Given the description of an element on the screen output the (x, y) to click on. 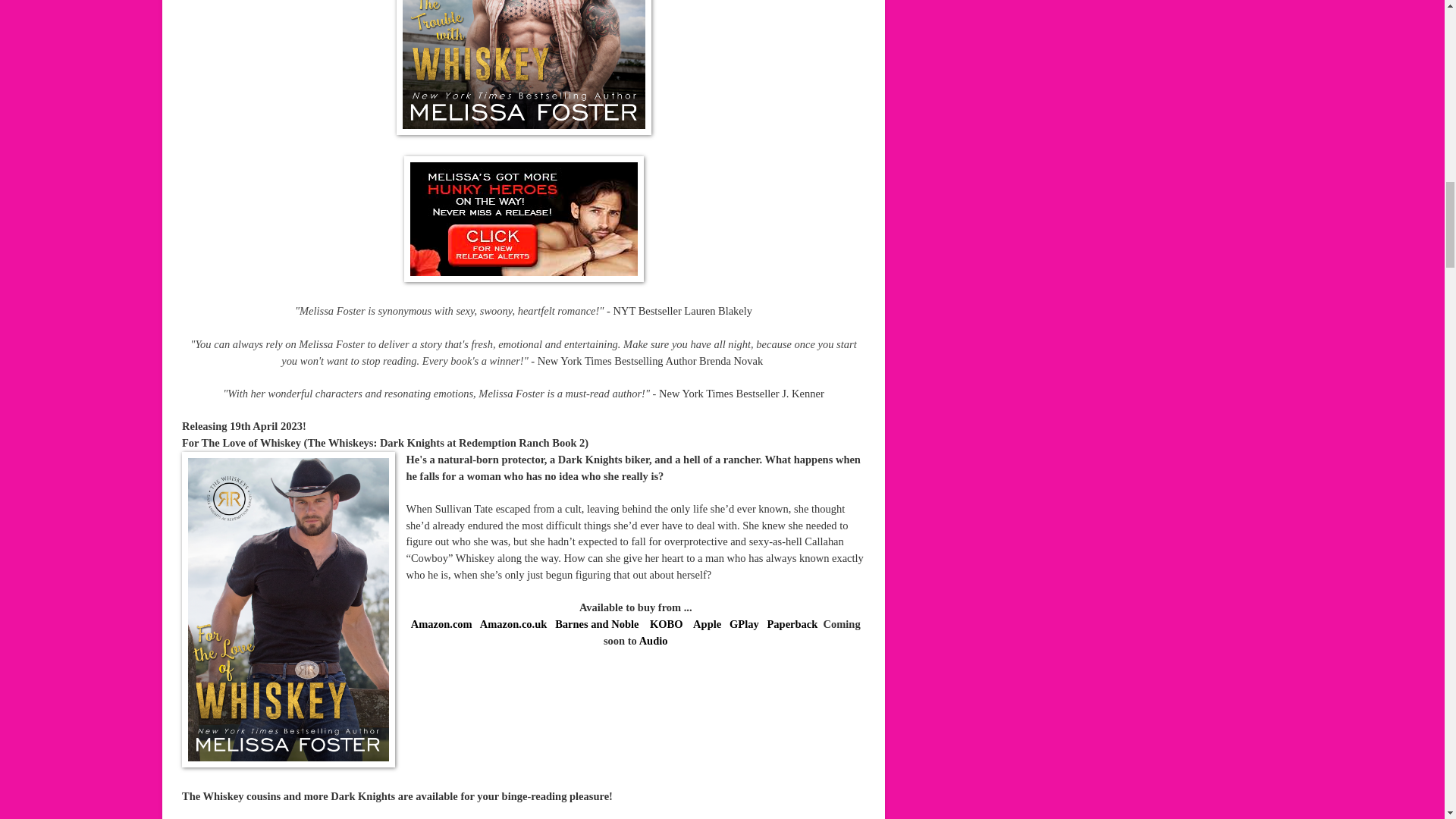
Paperback (792, 623)
Apple (706, 623)
GPlay (743, 623)
Audio (653, 640)
Amazon.co.uk (513, 623)
KOBO  (667, 623)
Barnes and Noble (596, 623)
Amazon.com (440, 623)
